Given the description of an element on the screen output the (x, y) to click on. 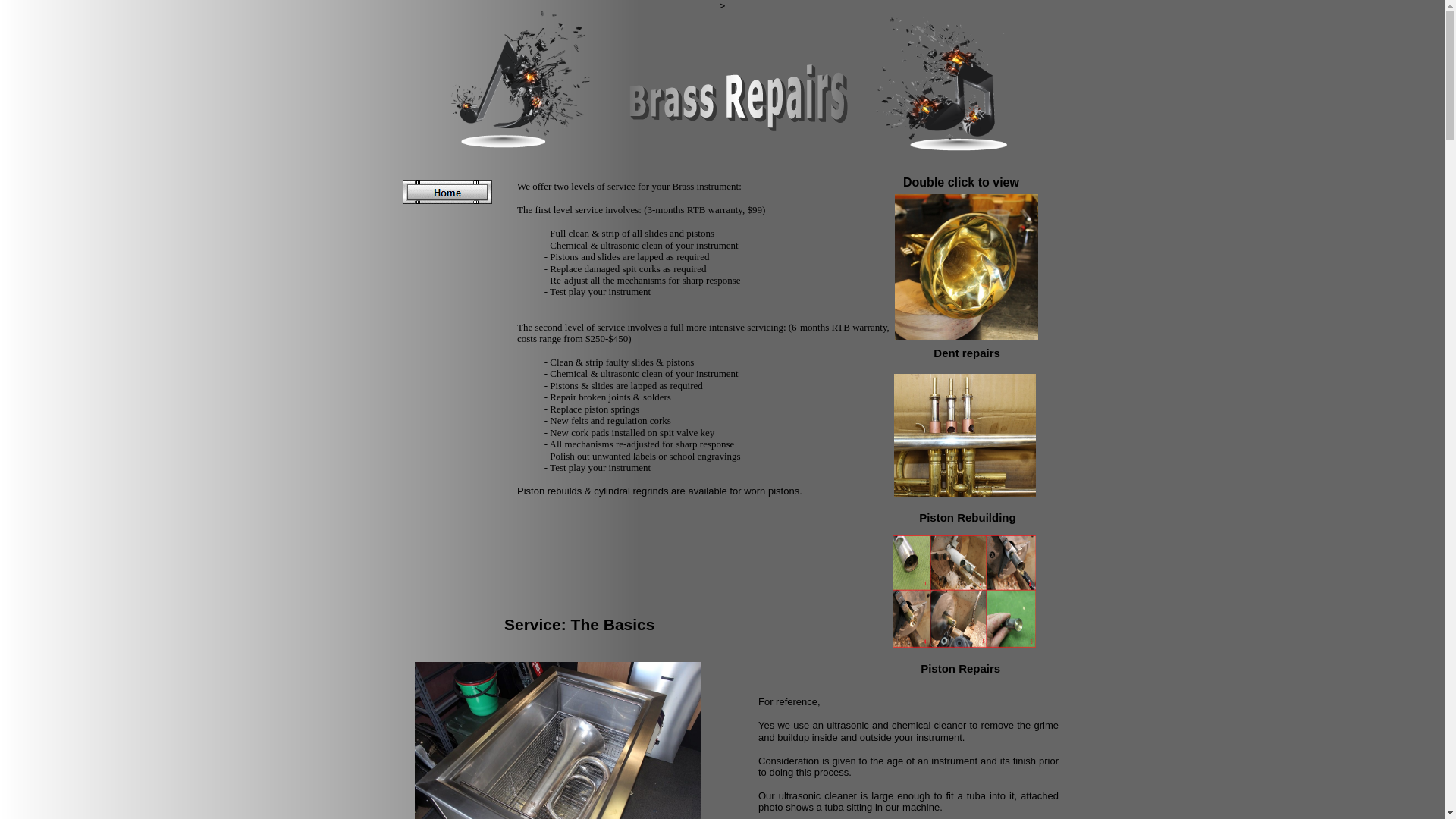
Brass Repairs Element type: hover (739, 97)
Index Element type: hover (447, 191)
